Given the description of an element on the screen output the (x, y) to click on. 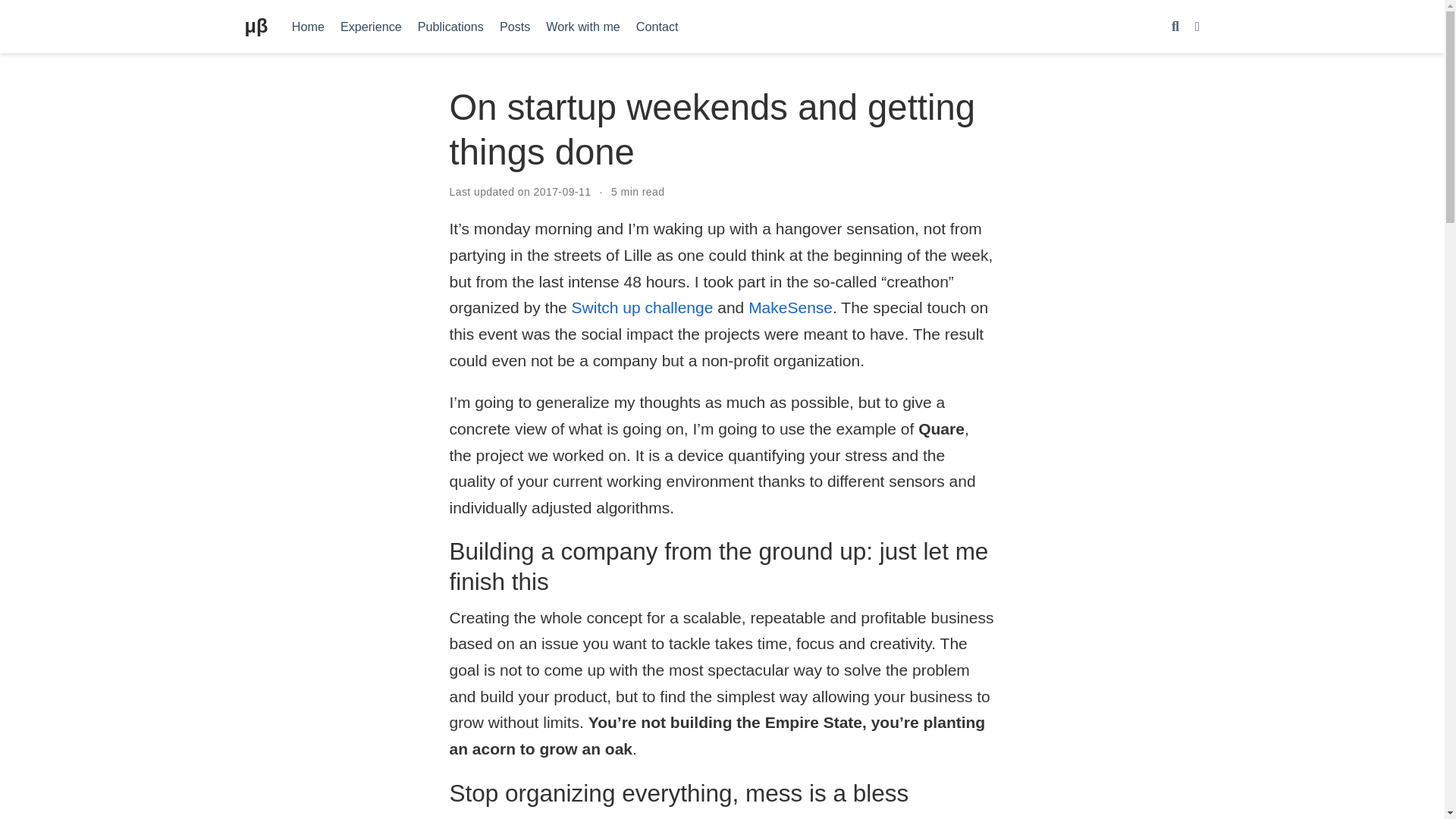
Work with me (583, 25)
Contact (656, 25)
Posts (514, 25)
Switch up challenge (642, 307)
Home (307, 25)
MakeSense (790, 307)
Publications (450, 25)
Experience (370, 25)
